Given the description of an element on the screen output the (x, y) to click on. 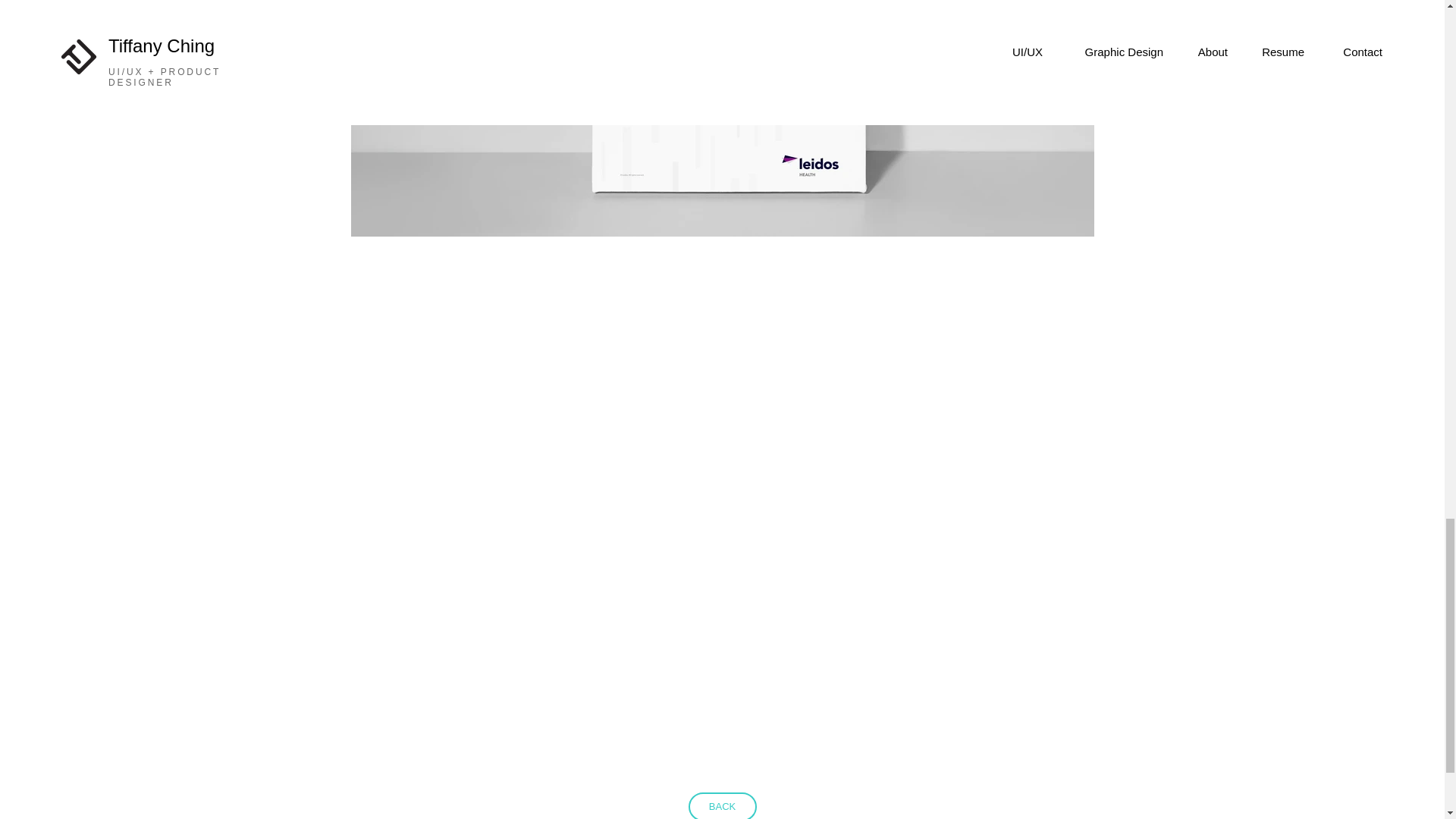
BACK (722, 805)
